Given the description of an element on the screen output the (x, y) to click on. 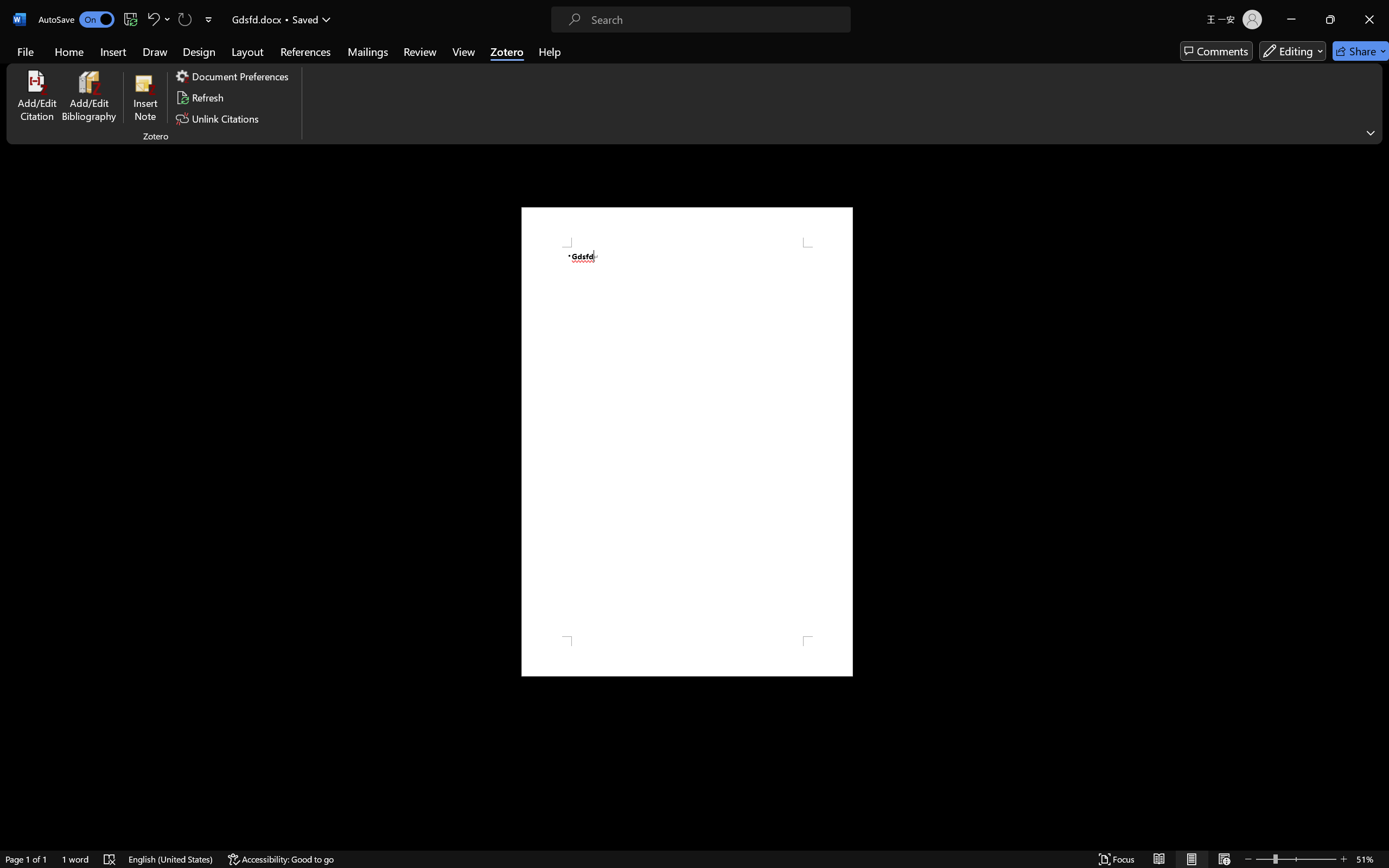
Page 1 content (686, 441)
